Given the description of an element on the screen output the (x, y) to click on. 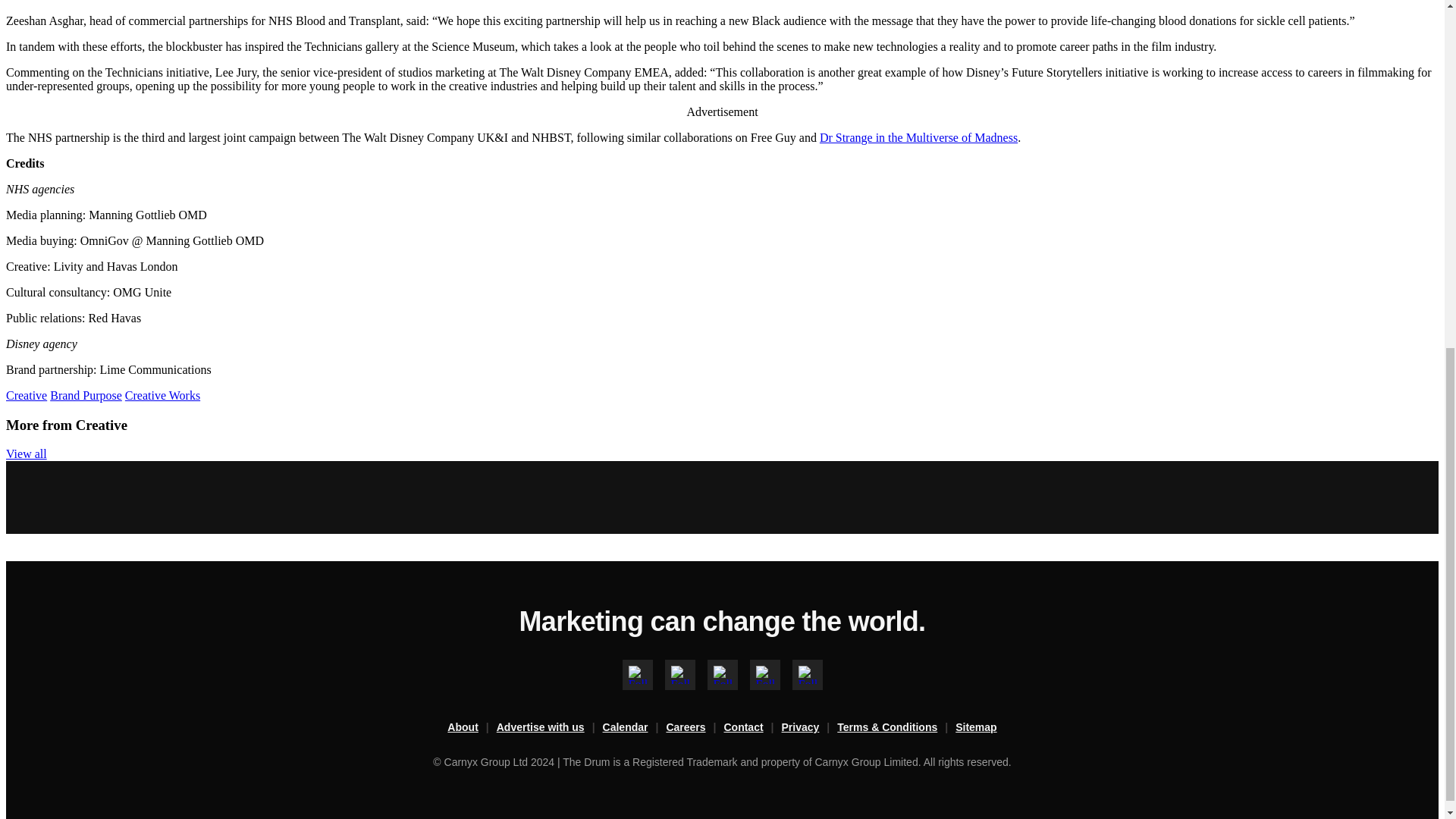
Creative Works (162, 395)
View all (25, 453)
Dr Strange in the Multiverse of Madness (918, 137)
Contact (751, 728)
Advertise with us (549, 728)
Privacy (809, 728)
About (471, 728)
Creative (25, 395)
Sitemap (975, 728)
Careers (694, 728)
